Given the description of an element on the screen output the (x, y) to click on. 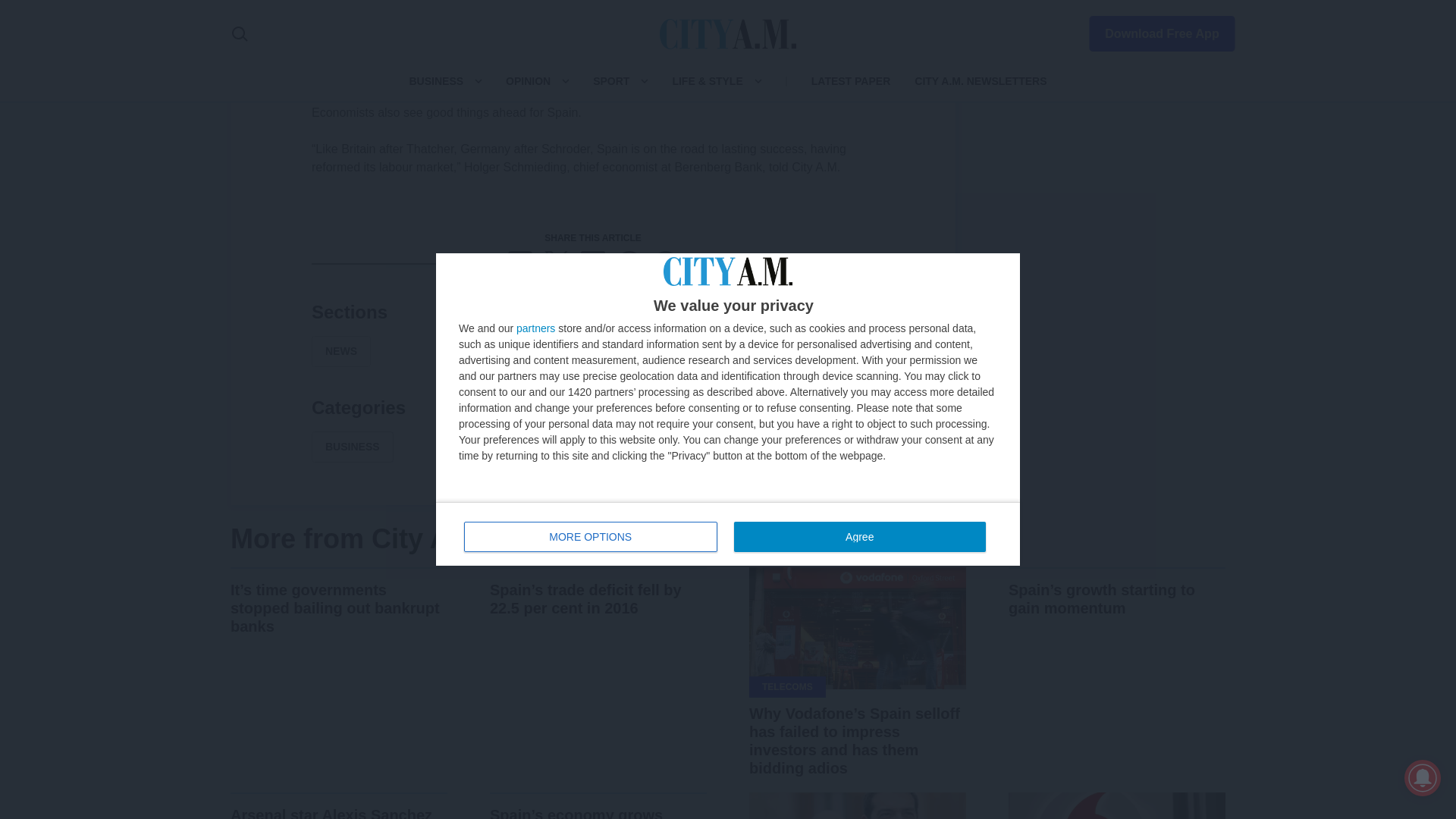
Facebook (520, 262)
LinkedIn (592, 262)
X (556, 262)
Email (665, 262)
WhatsApp (629, 262)
